Given the description of an element on the screen output the (x, y) to click on. 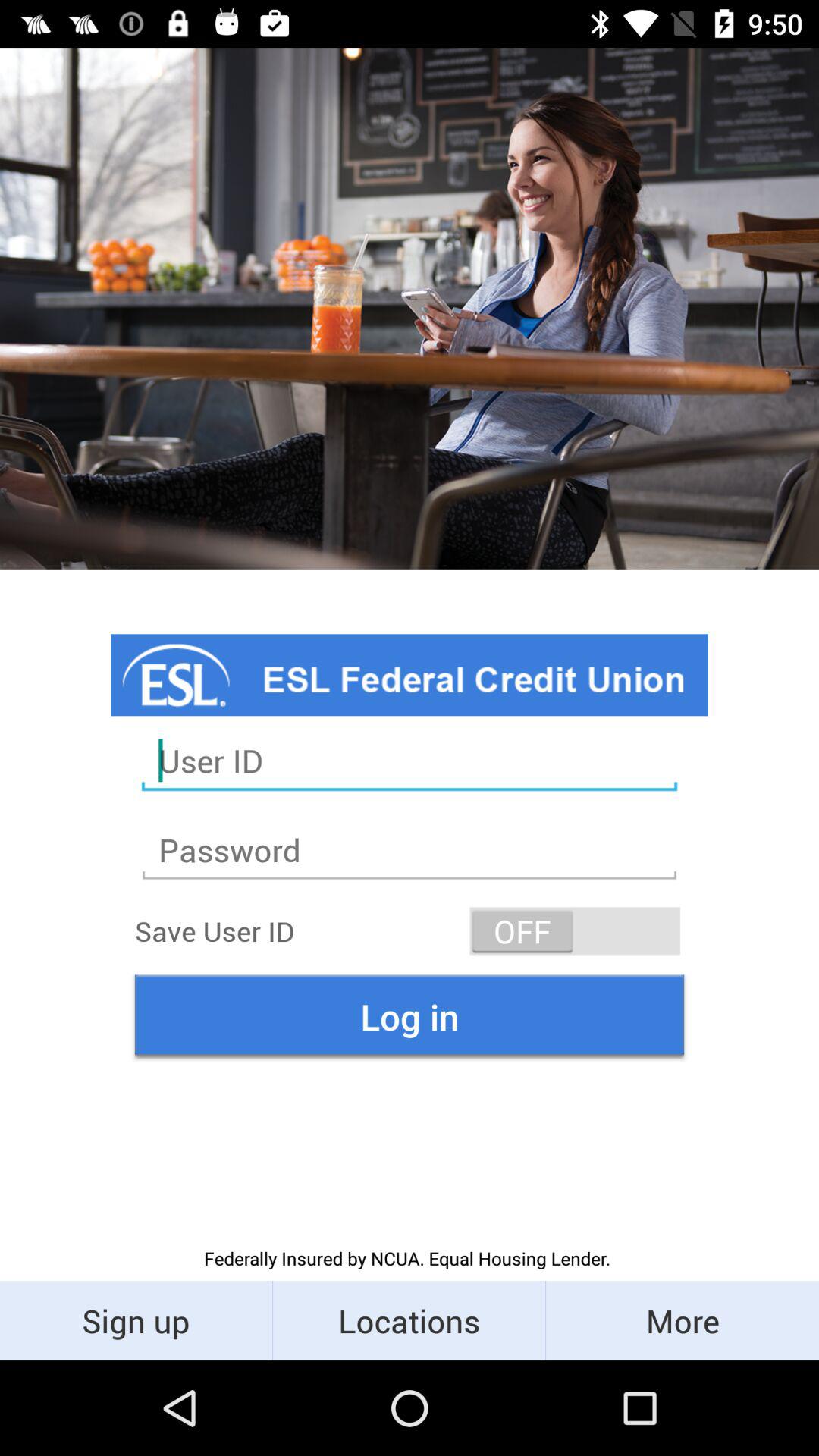
scroll until the locations (409, 1320)
